Given the description of an element on the screen output the (x, y) to click on. 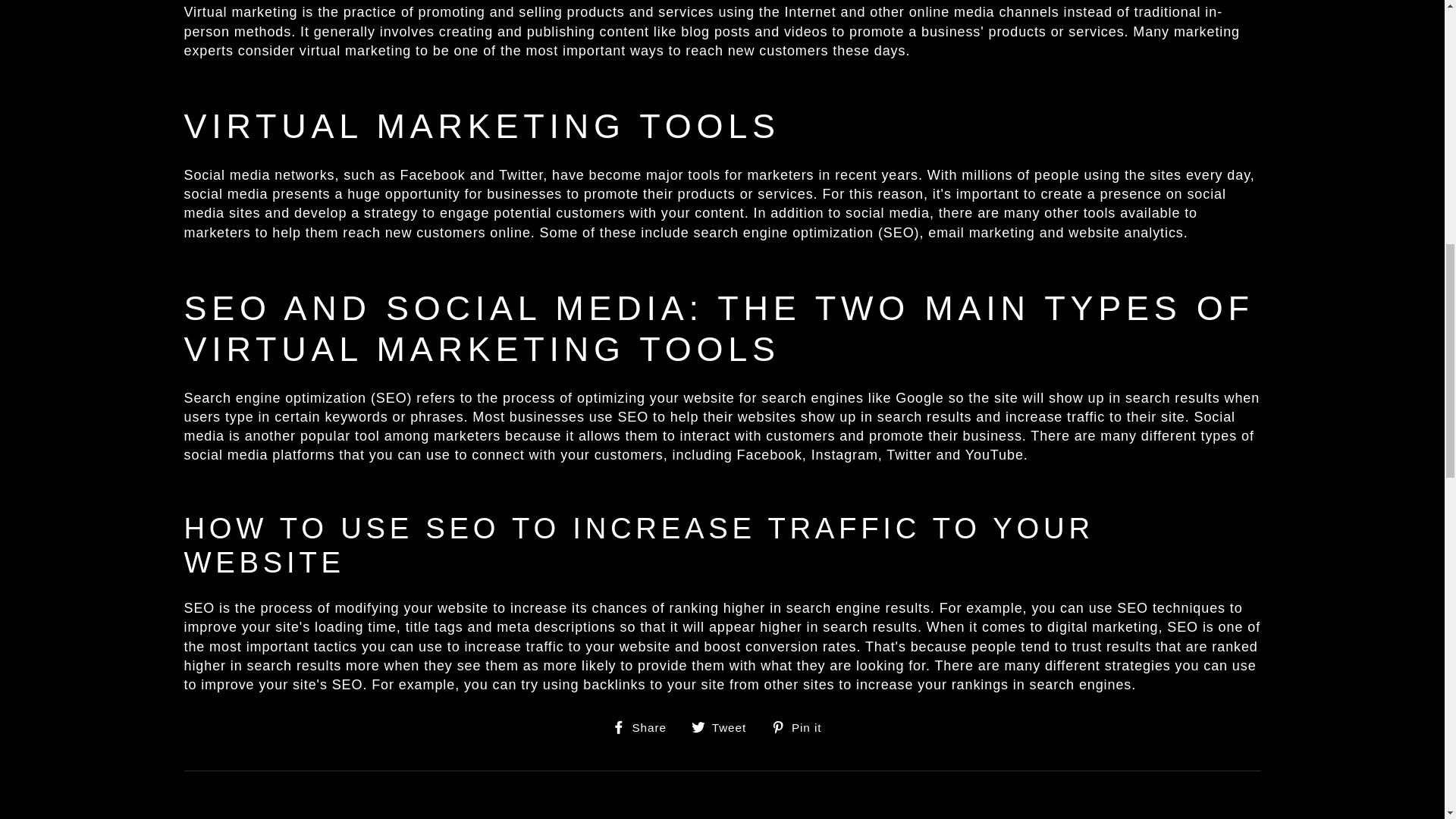
Share on Facebook (644, 726)
